Given the description of an element on the screen output the (x, y) to click on. 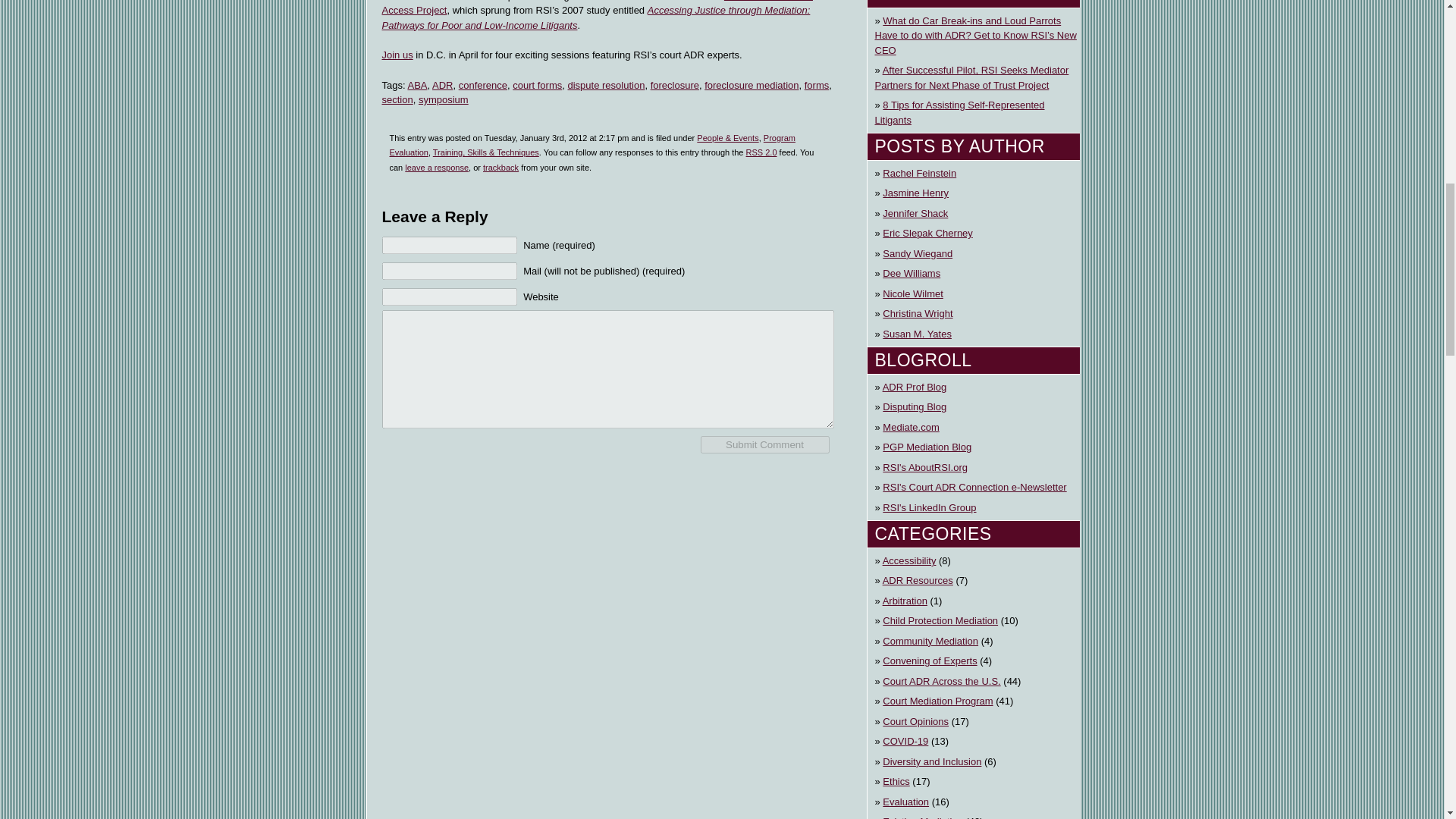
conference (482, 84)
Posts by Nicole Wilmet (912, 293)
ADR (442, 84)
Posts by Rachel Feinstein (919, 172)
Submit Comment (764, 444)
foreclosure (674, 84)
Posts by Jennifer Shack (914, 213)
dispute resolution (606, 84)
symposium (443, 99)
Posts by Jasmine Henry (915, 192)
Posts by Eric Slepak Cherney (927, 232)
Join us (397, 54)
Program Evaluation (592, 145)
Statewide Mediation Access Project (596, 7)
